Given the description of an element on the screen output the (x, y) to click on. 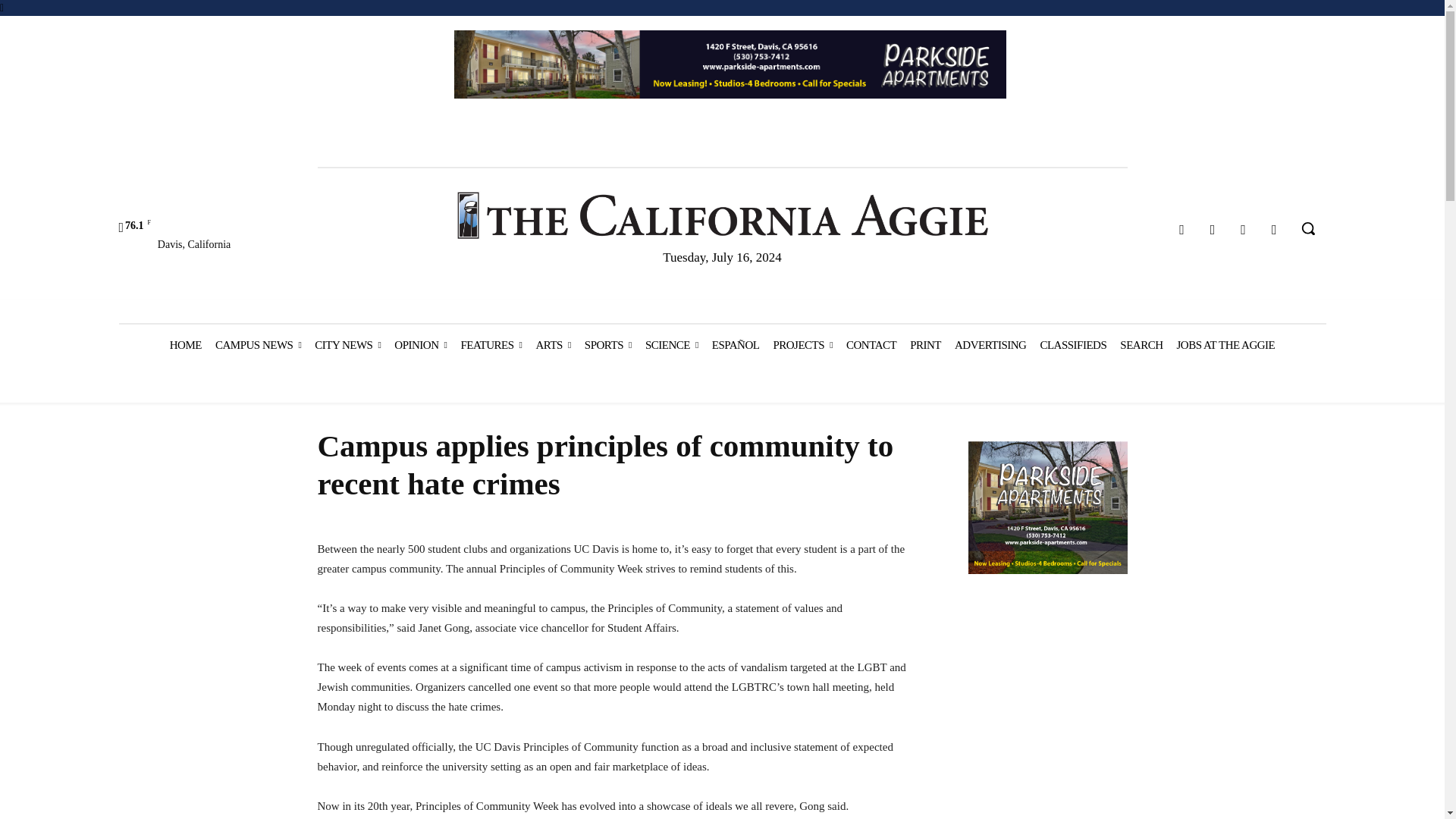
Instagram (1212, 229)
Facebook (1181, 229)
HOME (185, 345)
Youtube (1273, 229)
CAMPUS NEWS (257, 345)
Twitter (1243, 229)
